Given the description of an element on the screen output the (x, y) to click on. 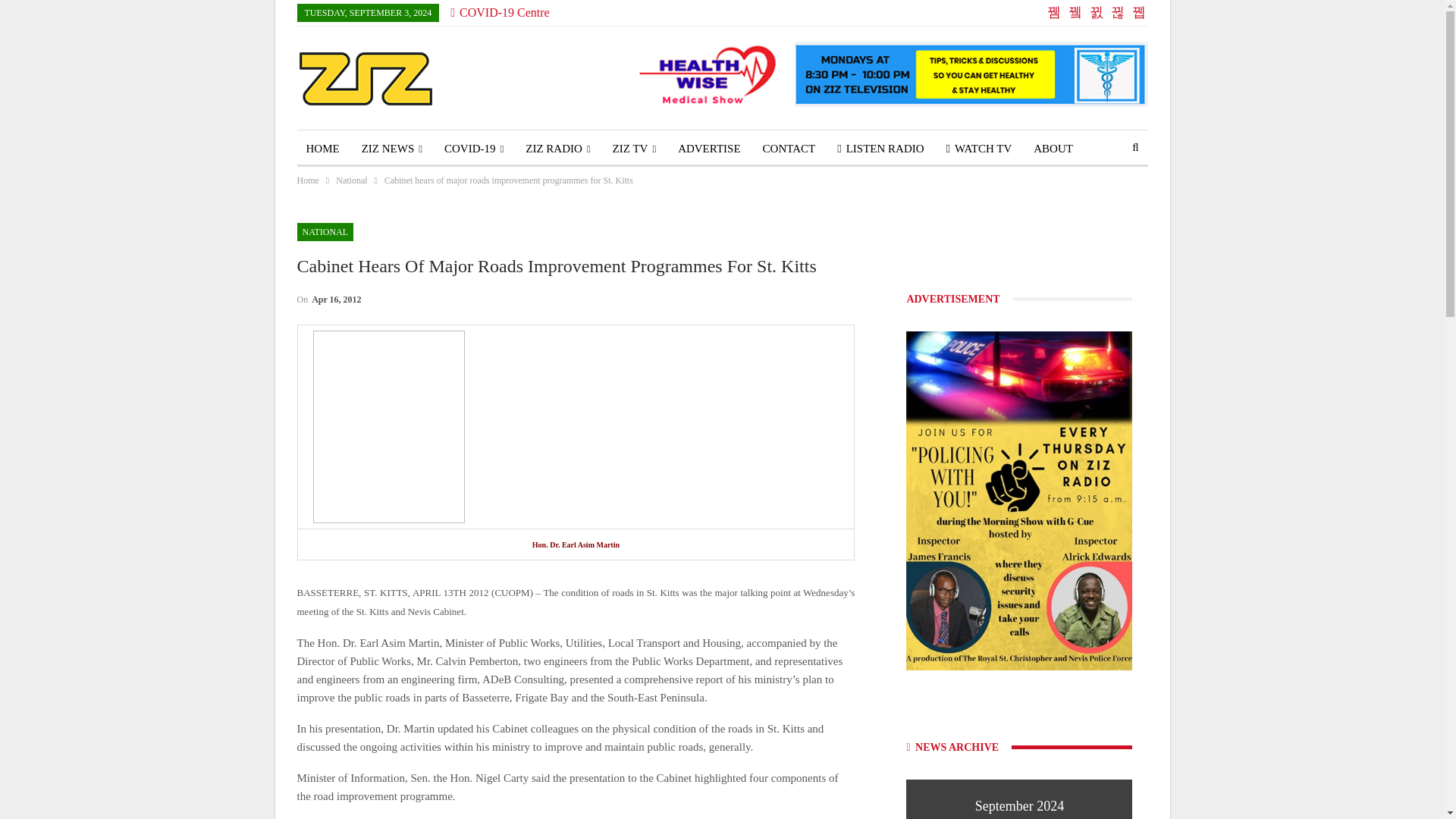
ZIZ RADIO (557, 148)
COVID-19 Centre (498, 11)
ZIZ NEWS (391, 148)
COVID-19 (473, 148)
HOME (323, 148)
